Given the description of an element on the screen output the (x, y) to click on. 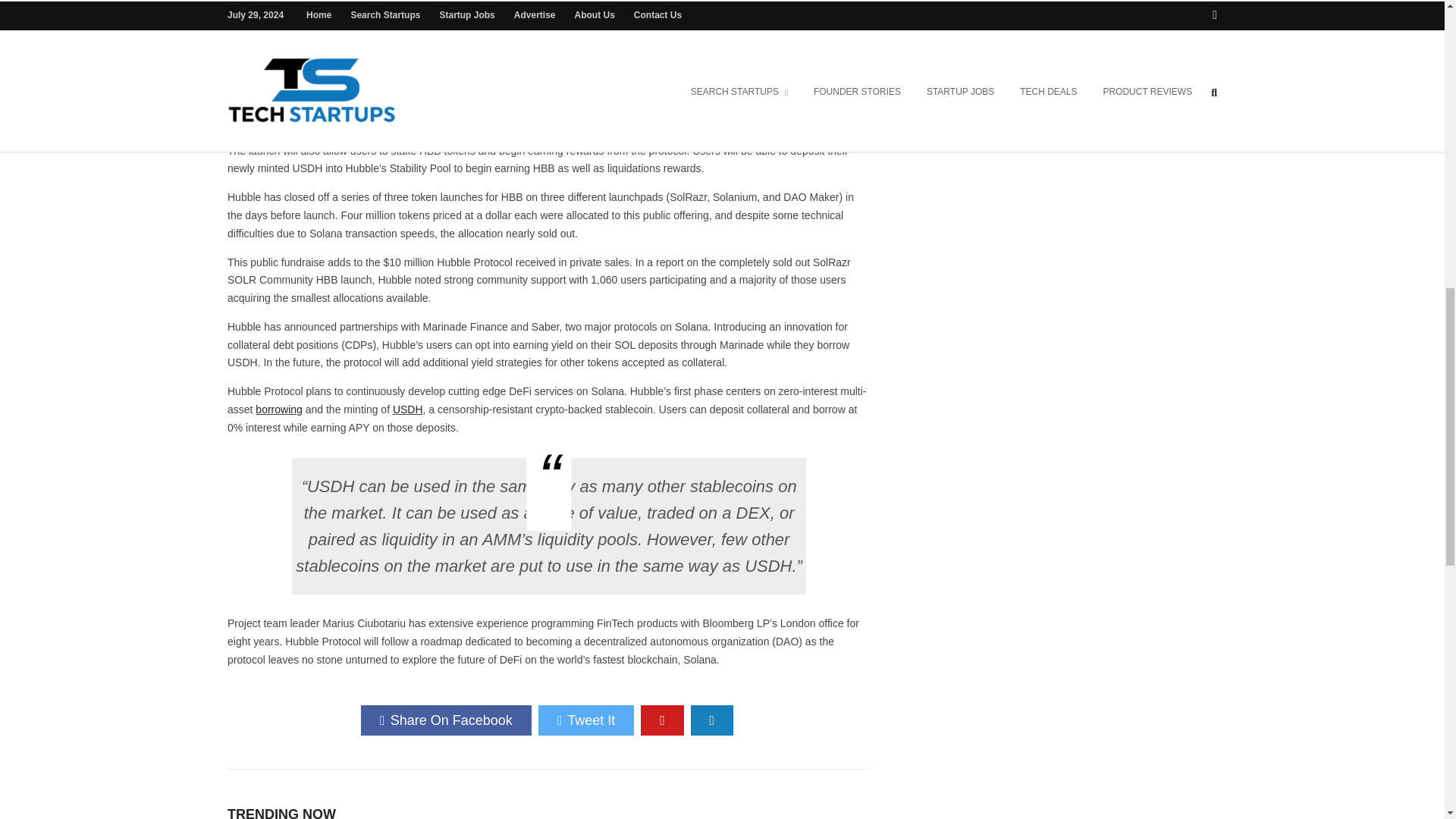
Advertisement (1064, 102)
Share by Email (711, 720)
Share On Pinterest (662, 720)
Share On Twitter (586, 720)
Share On Facebook (446, 720)
